Given the description of an element on the screen output the (x, y) to click on. 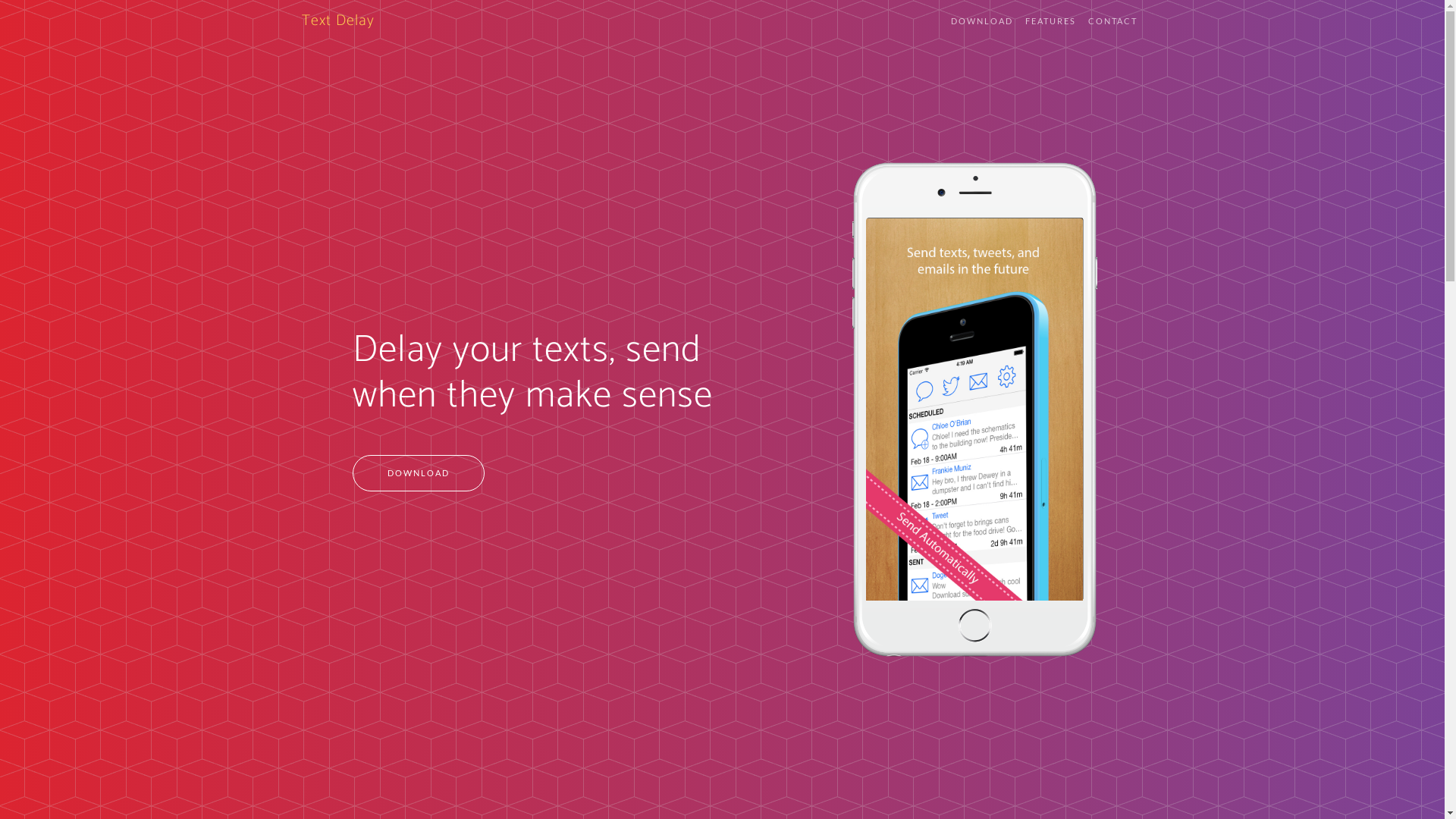
CONTACT Element type: text (1111, 21)
FEATURES Element type: text (1050, 21)
DOWNLOAD Element type: text (418, 473)
Text Delay Element type: text (337, 21)
DOWNLOAD Element type: text (981, 21)
